Given the description of an element on the screen output the (x, y) to click on. 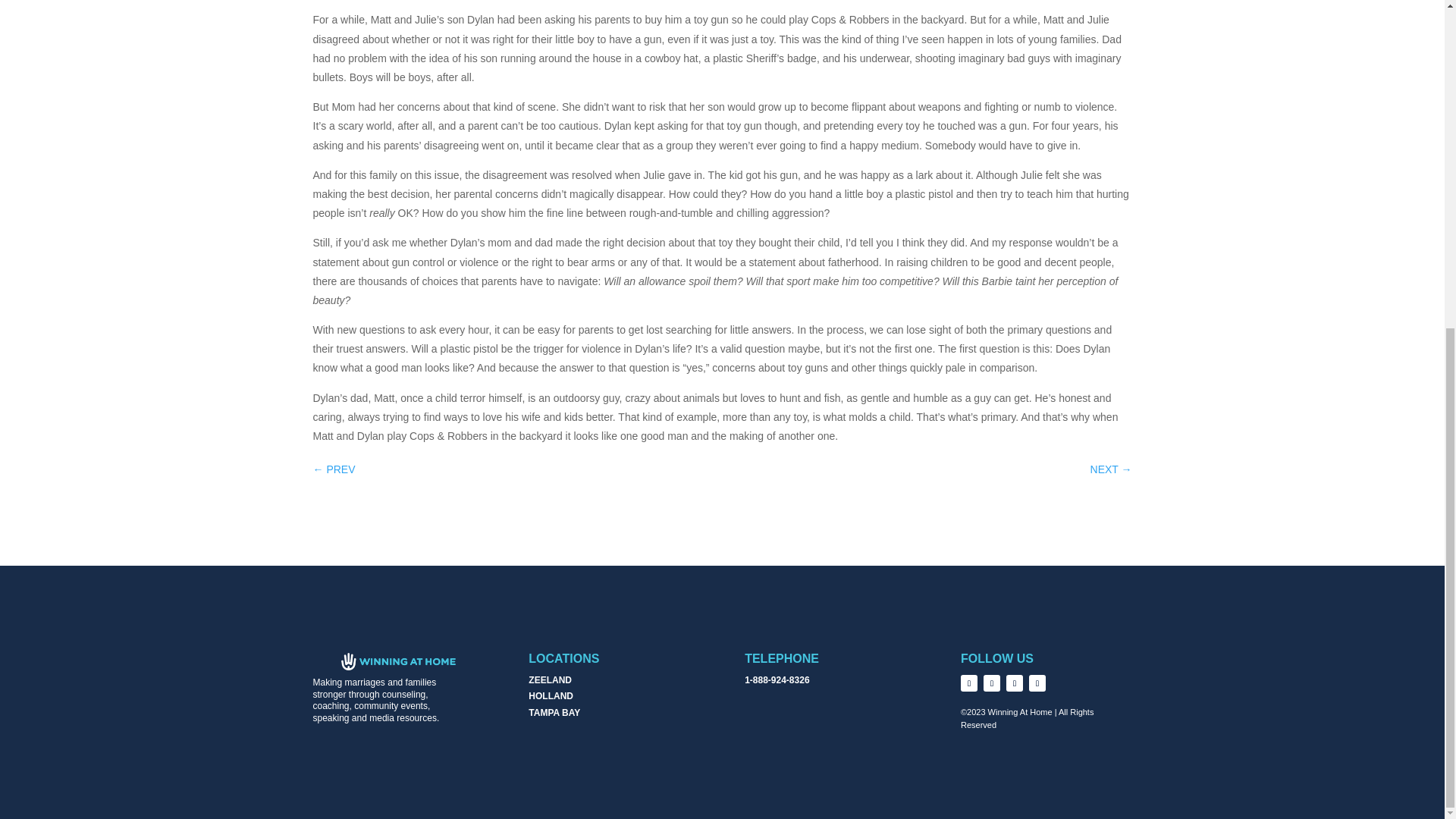
Follow on Facebook (968, 682)
Follow on Vimeo (1014, 682)
Follow on Instagram (1037, 682)
Follow on X (992, 682)
